Given the description of an element on the screen output the (x, y) to click on. 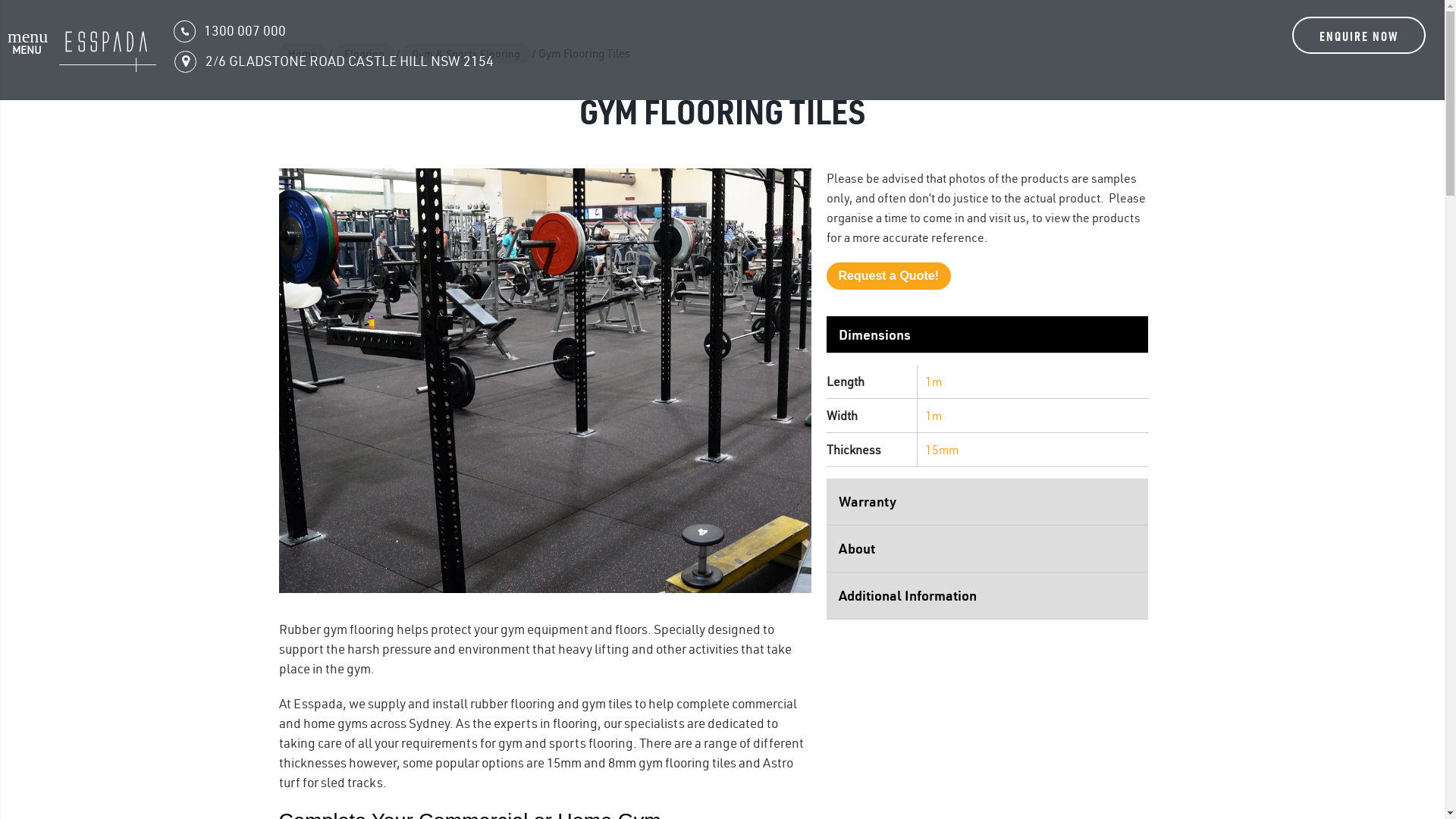
Warranty Element type: text (987, 501)
Additional Information Element type: text (987, 595)
ENQUIRE NOW Element type: text (1358, 34)
Dimensions Element type: text (987, 335)
About Element type: text (987, 548)
menu MENU Element type: text (26, 54)
Home Element type: text (302, 53)
2/6 GLADSTONE ROAD
CASTLE HILL NSW 2154 Element type: text (799, 60)
1300 007 000 Element type: text (229, 31)
Flooring Element type: text (364, 53)
Gym & Sports Flooring Element type: text (464, 53)
